Given the description of an element on the screen output the (x, y) to click on. 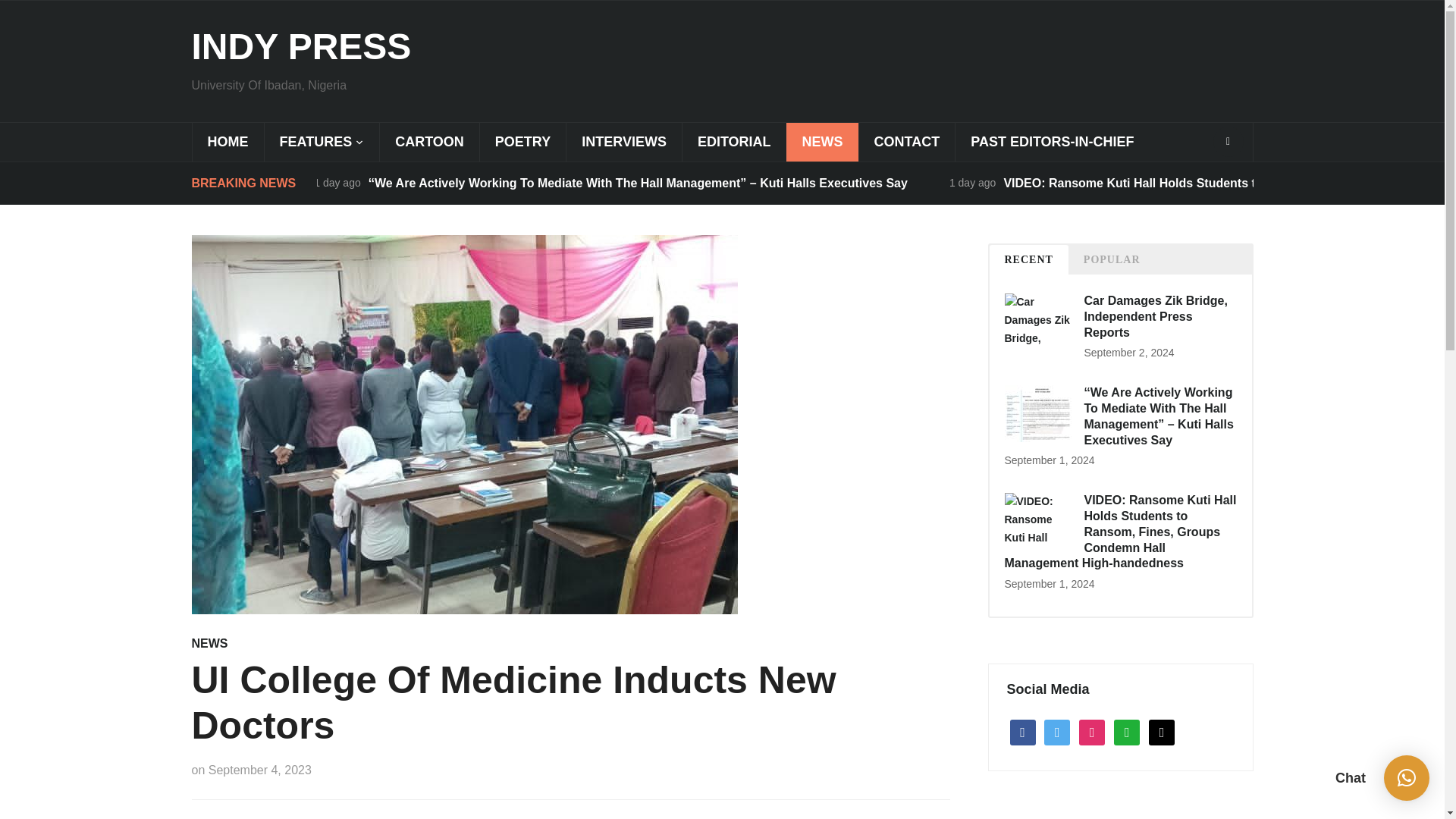
PAST EDITORS-IN-CHIEF (1051, 141)
HOME (226, 141)
NEWS (822, 141)
NEWS (208, 643)
FEATURES (321, 141)
University Of Ibadan, Nigeria (300, 46)
CARTOON (428, 141)
INTERVIEWS (623, 141)
INDY PRESS (300, 46)
CONTACT (907, 141)
